Given the description of an element on the screen output the (x, y) to click on. 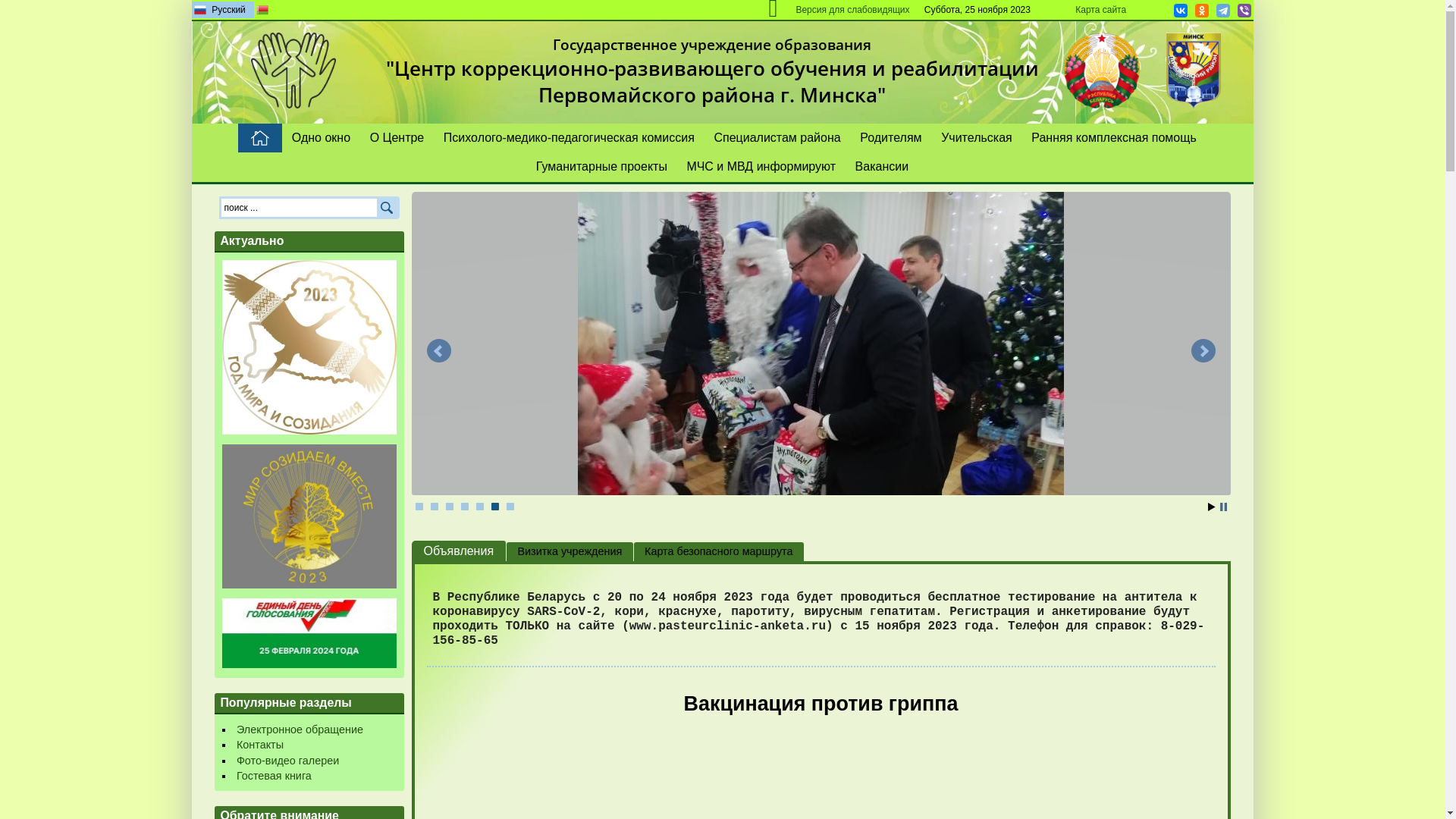
6 Element type: text (494, 506)
Start Element type: text (1210, 506)
  Element type: text (260, 137)
1 Element type: text (419, 506)
4 Element type: text (464, 506)
Stop Element type: text (1222, 506)
2 Element type: text (434, 506)
Prev Element type: text (438, 350)
Next Element type: text (1202, 350)
3 Element type: text (449, 506)
Telegram Element type: hover (1222, 10)
5 Element type: text (479, 506)
7 Element type: text (510, 506)
Viber Element type: hover (1243, 10)
